Given the description of an element on the screen output the (x, y) to click on. 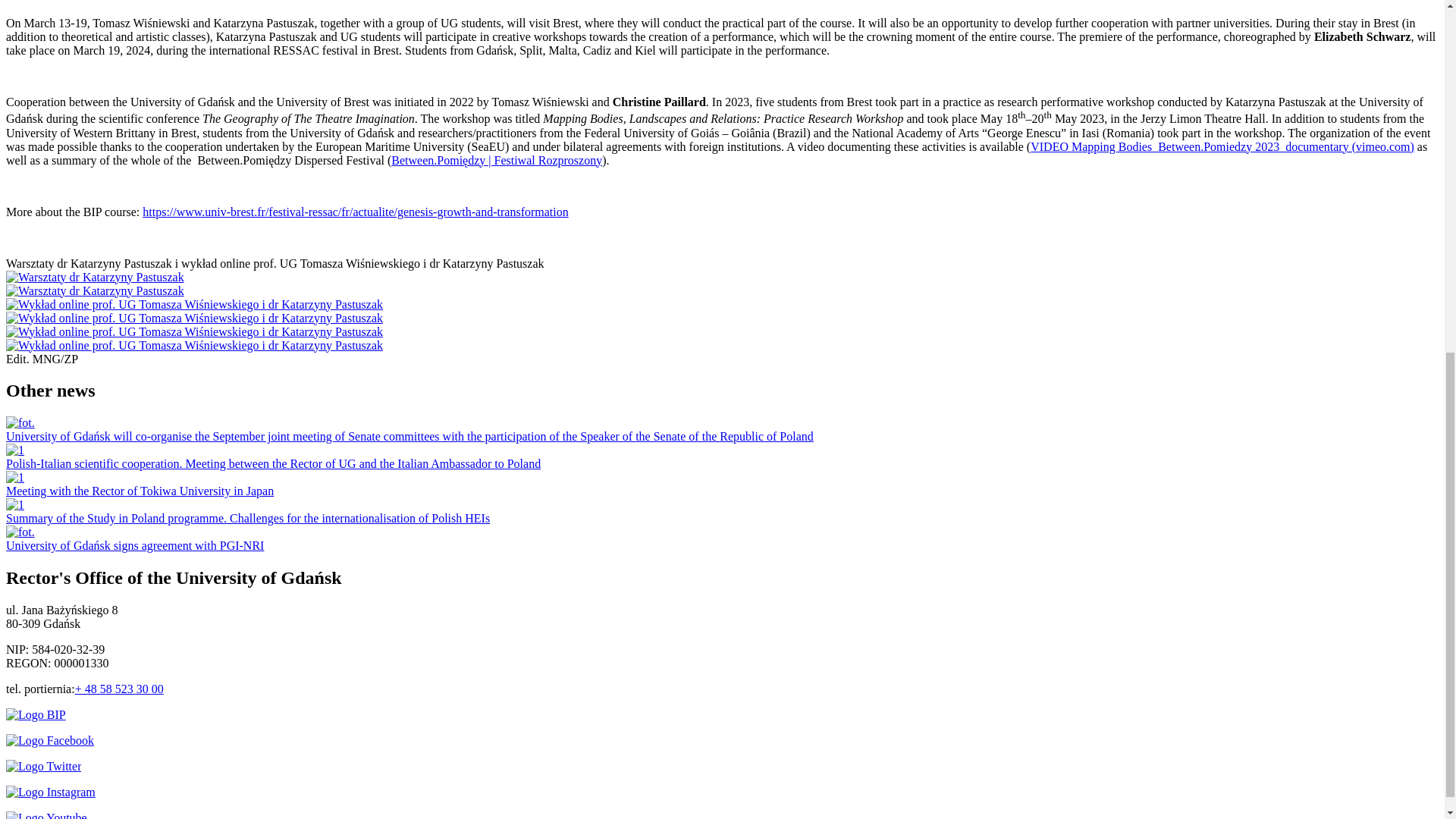
Meeting with the Rector of Tokiwa University in Japan (139, 490)
Warsztaty dr Katarzyny Pastuszak (94, 290)
Warsztaty dr Katarzyny Pastuszak (94, 277)
